Given the description of an element on the screen output the (x, y) to click on. 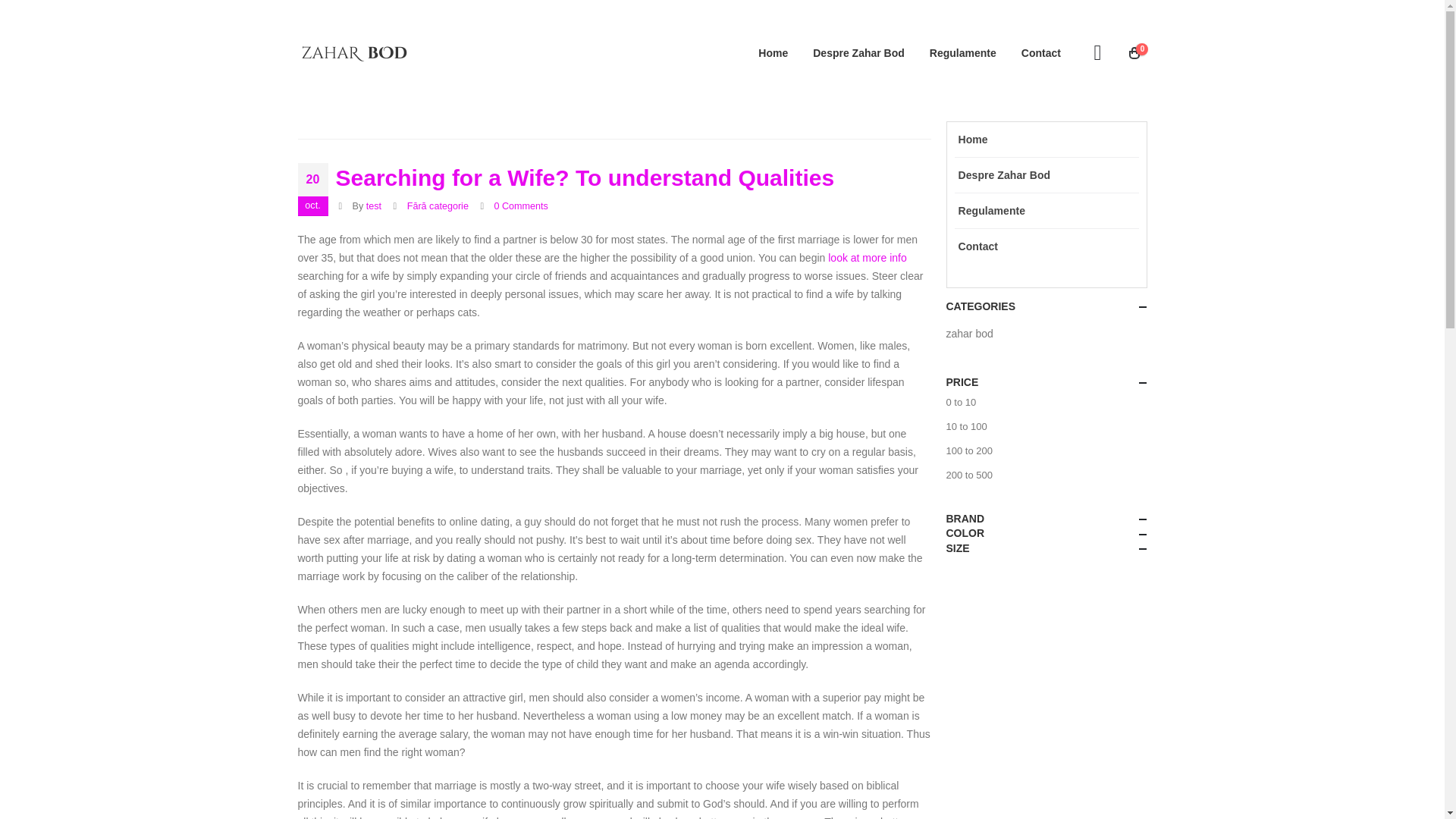
look at more info (867, 257)
Zahar Bod - Traditie de la 1889 (353, 52)
My Account (1097, 52)
Despre Zahar Bod (858, 52)
0 Comments (521, 205)
Articole de test (373, 205)
test (373, 205)
Regulamente (963, 52)
0 Comments (521, 205)
